Given the description of an element on the screen output the (x, y) to click on. 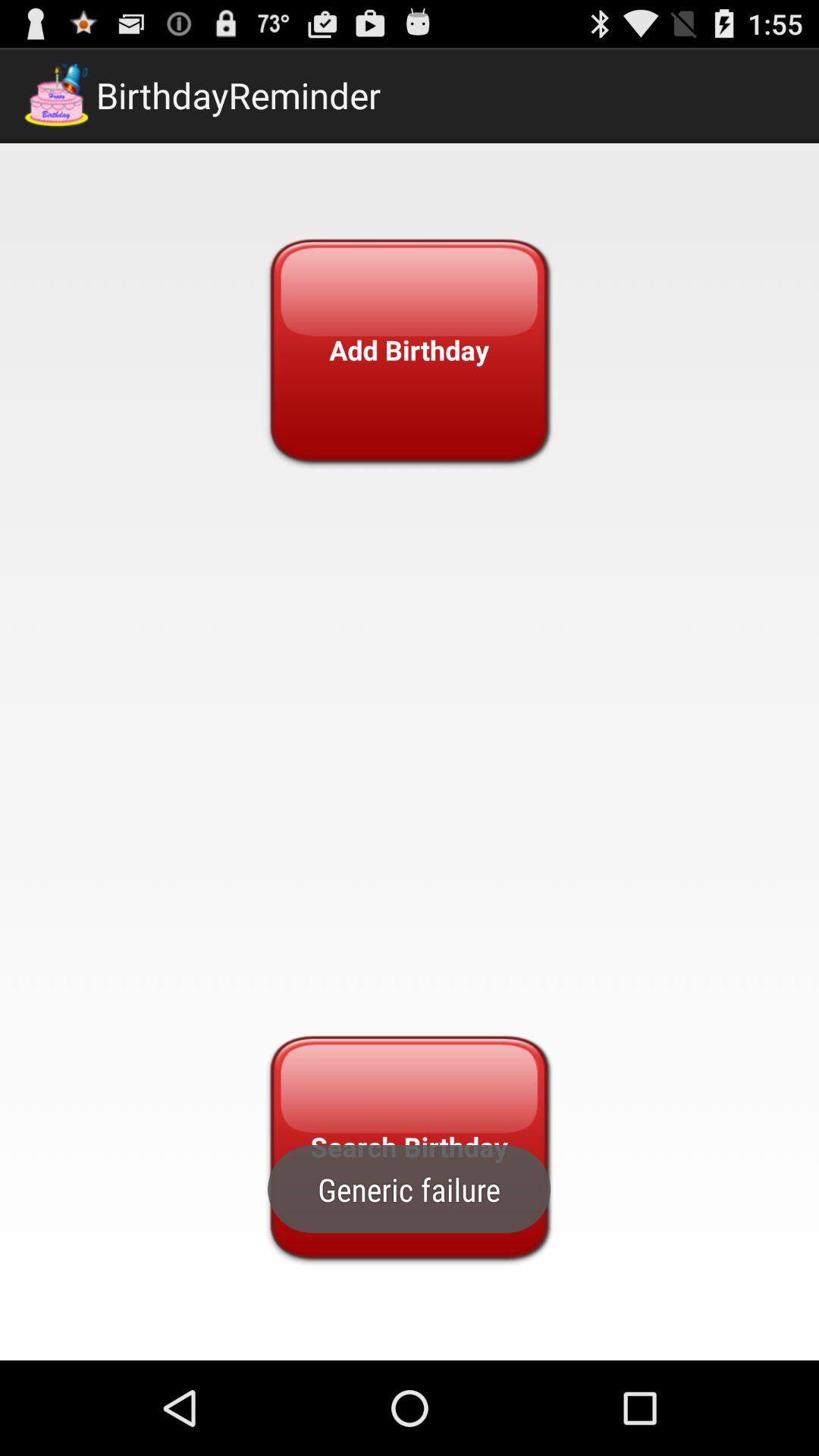
open add birthday button (408, 349)
